Given the description of an element on the screen output the (x, y) to click on. 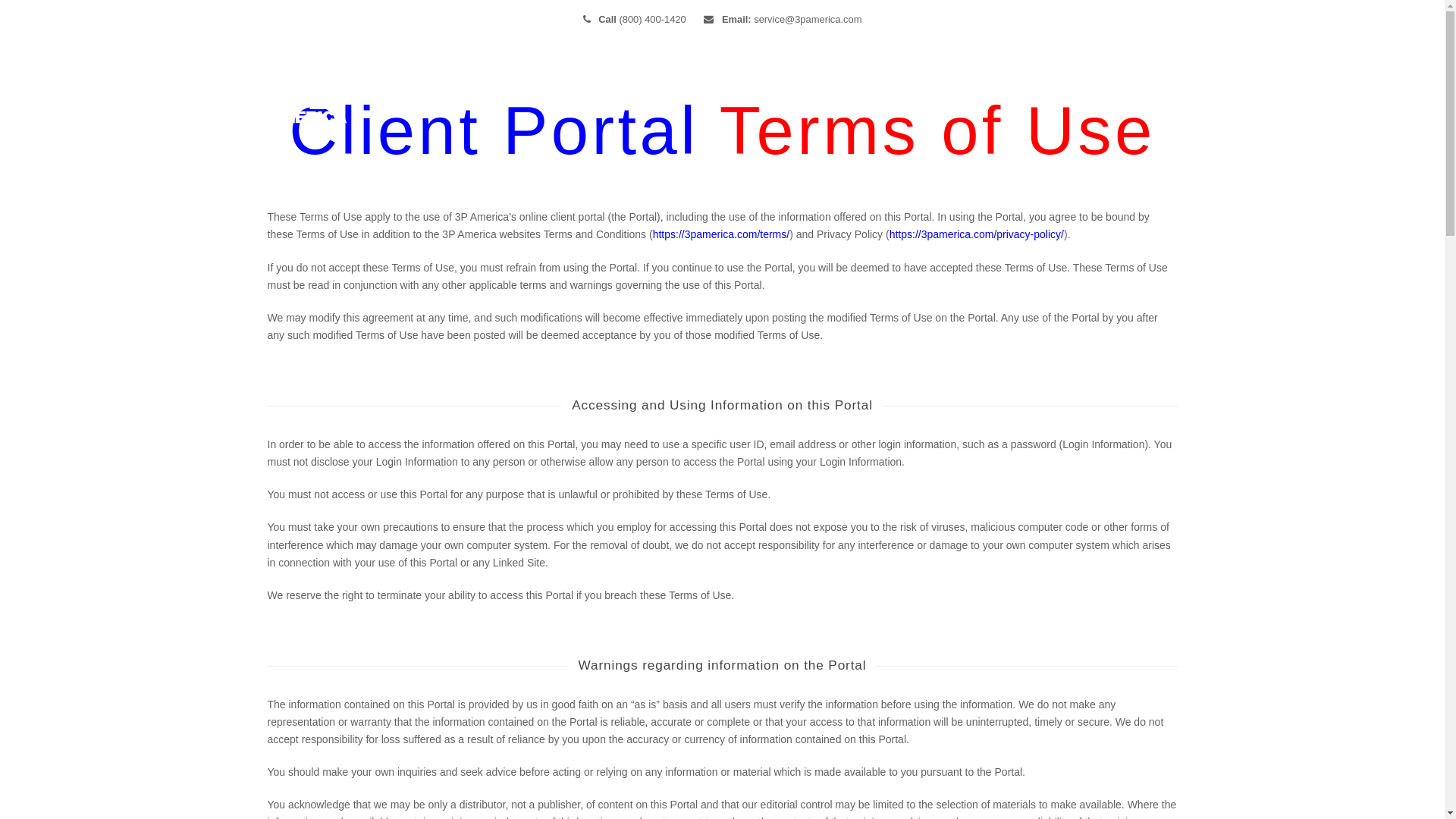
https://3pamerica.com/privacy-policy/ Element type: text (976, 234)
Service Portal Element type: text (1139, 95)
Contact Element type: text (1050, 95)
FAQ Element type: text (987, 95)
3P Smart Verify Element type: text (842, 95)
News Element type: text (929, 95)
https://3pamerica.com/terms/ Element type: text (721, 234)
